Given the description of an element on the screen output the (x, y) to click on. 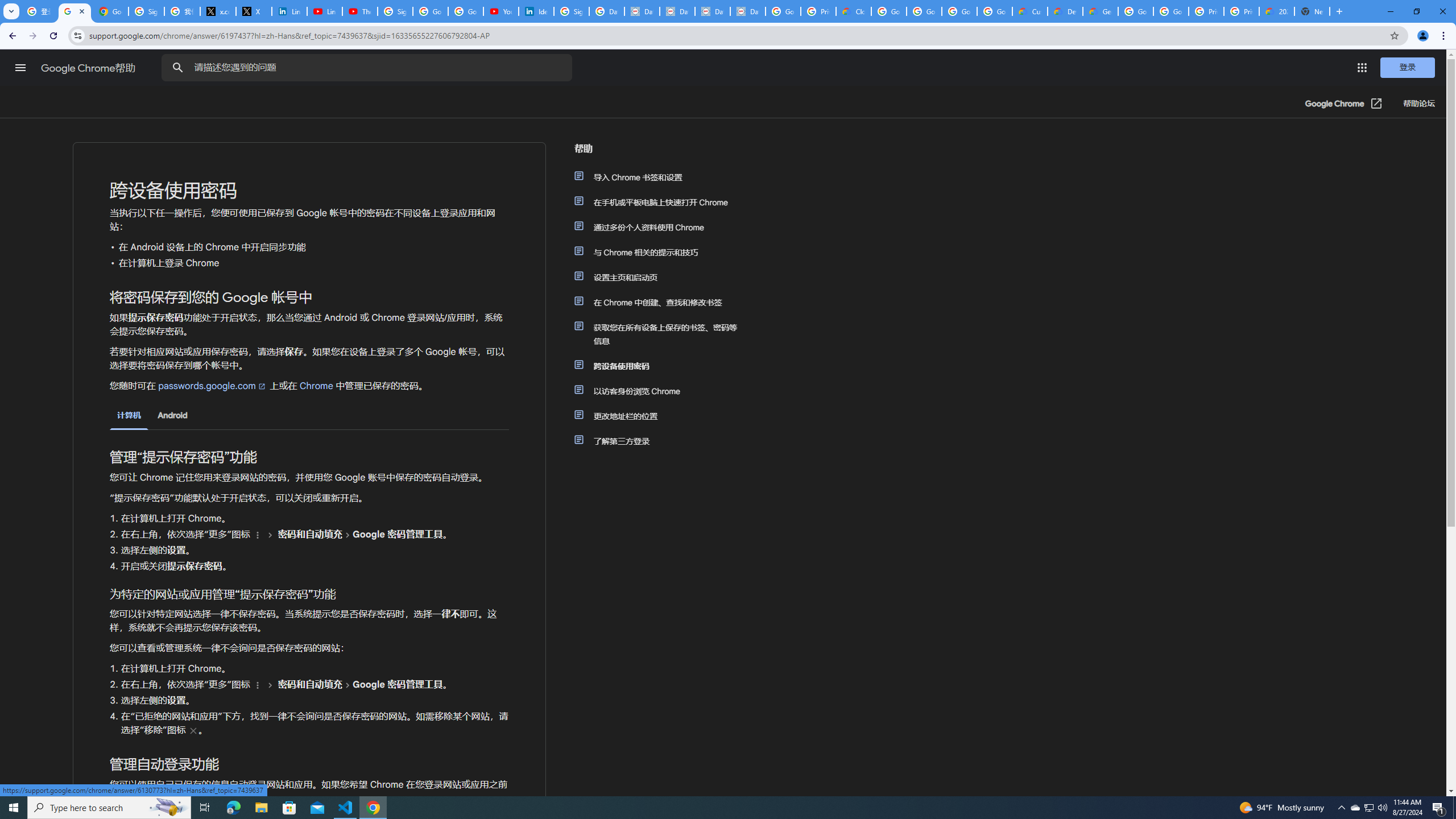
Customer Care | Google Cloud (1029, 11)
